Given the description of an element on the screen output the (x, y) to click on. 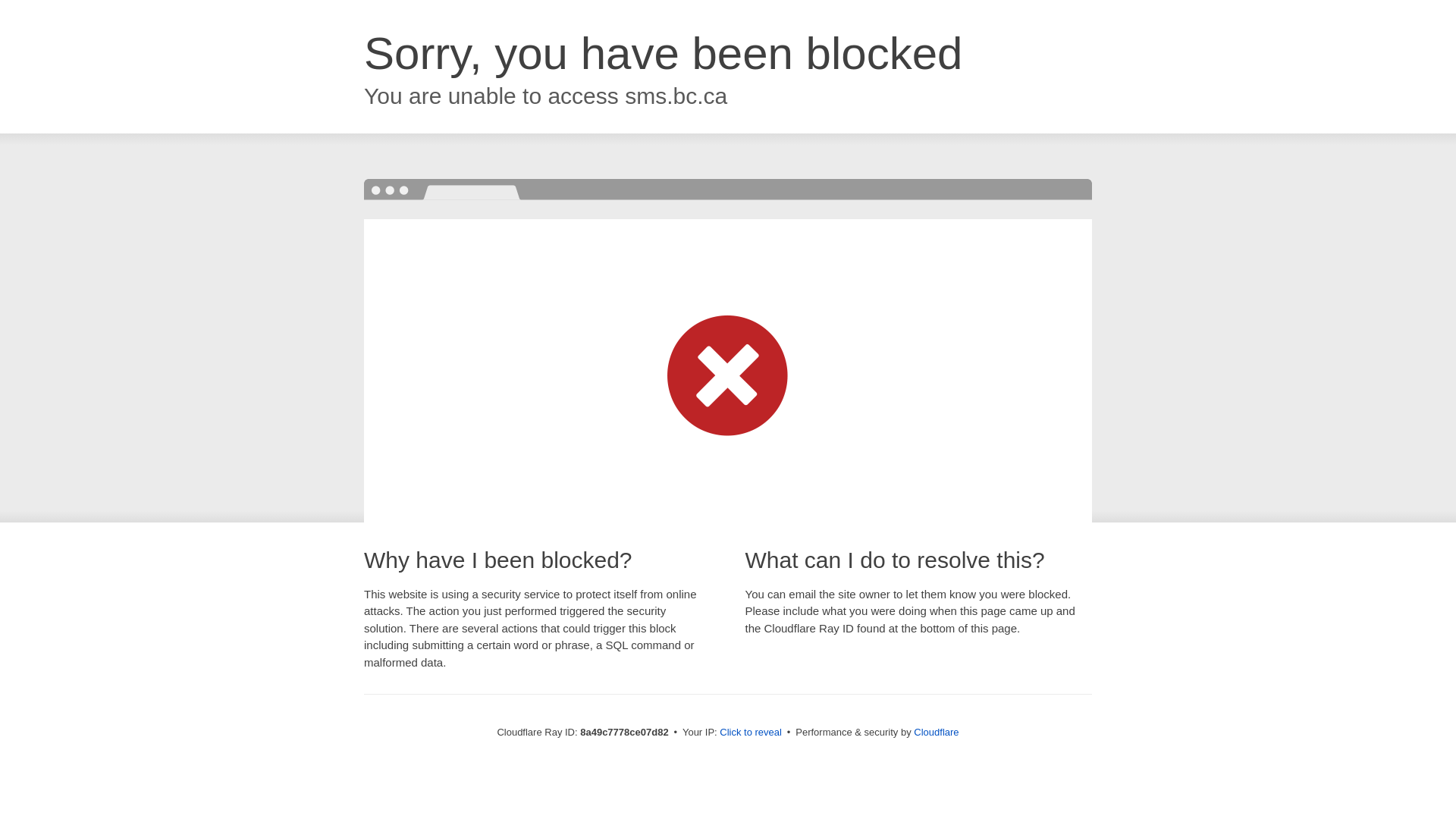
Click to reveal (750, 732)
Cloudflare (936, 731)
